Given the description of an element on the screen output the (x, y) to click on. 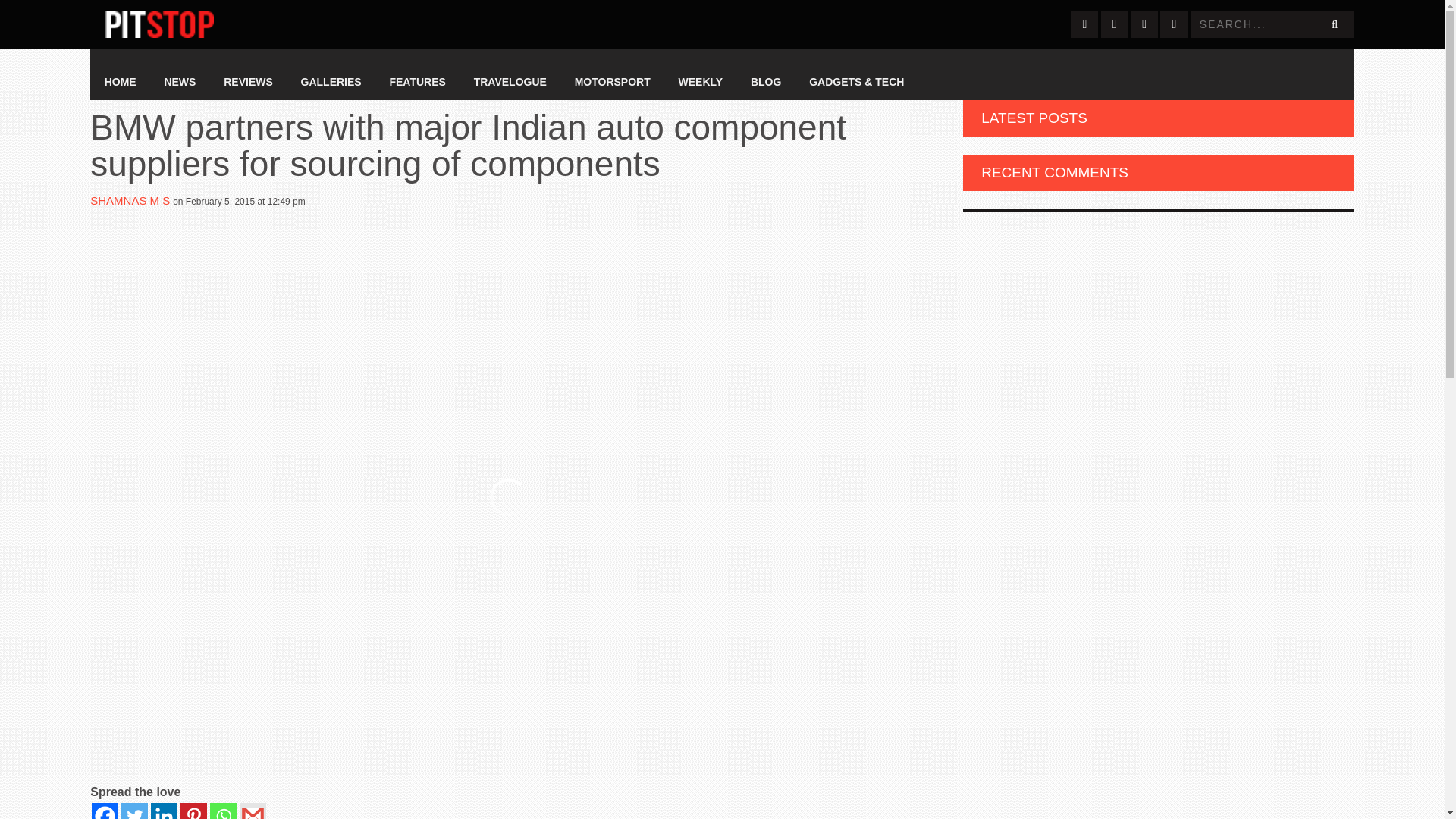
NEWS (179, 82)
Pitstop (159, 24)
Posts by Shamnas M S (130, 200)
SHAMNAS M S (130, 200)
HOME (119, 82)
Whatsapp (222, 811)
Facebook (104, 811)
TRAVELOGUE (510, 82)
BLOG (765, 82)
WEEKLY (699, 82)
